Given the description of an element on the screen output the (x, y) to click on. 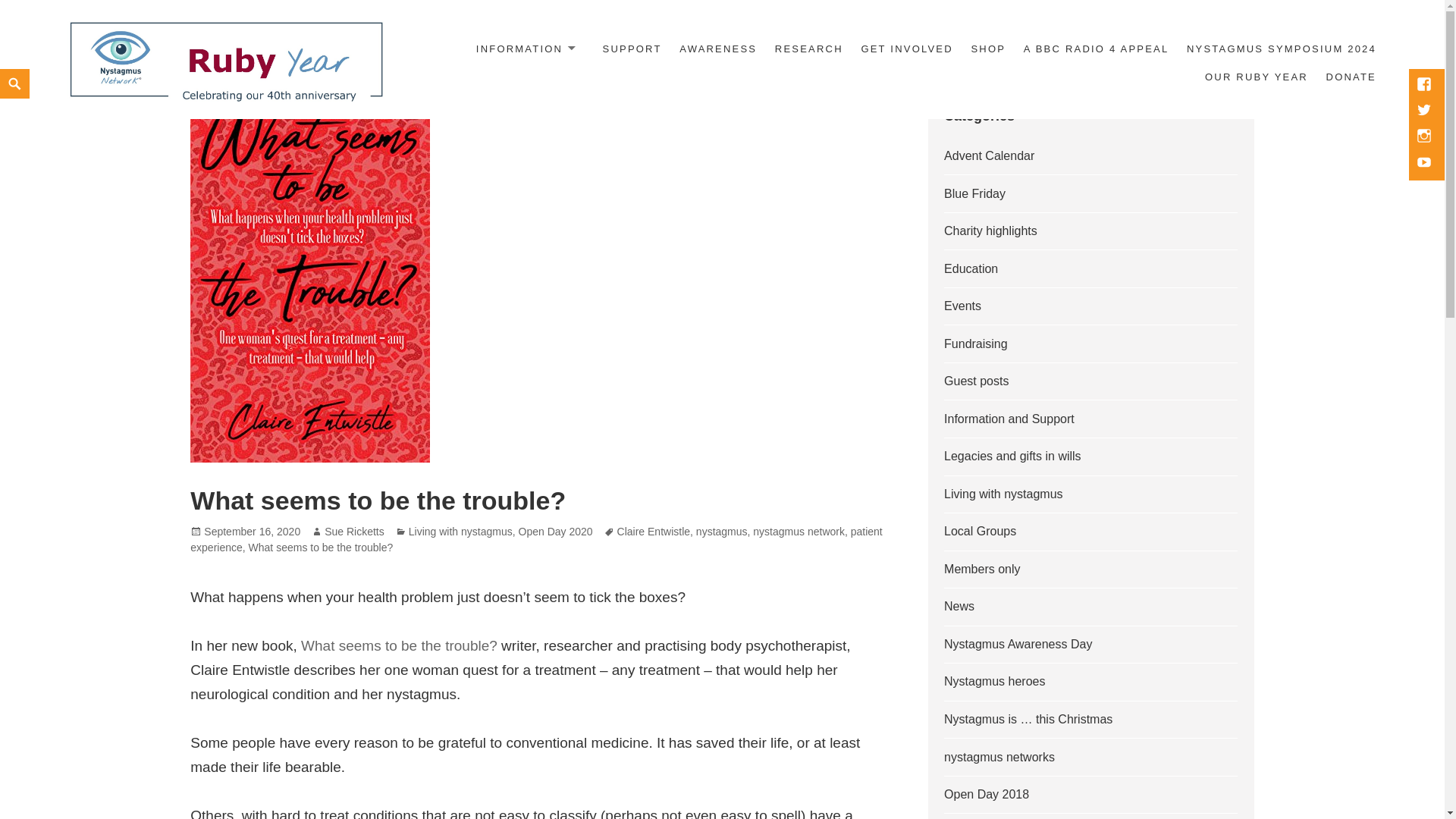
What seems to be the trouble? (399, 646)
NYSTAGMUS SYMPOSIUM 2024 (1280, 49)
SUPPORT (632, 49)
Living with nystagmus (460, 531)
Open Day 2020 (555, 531)
Claire Entwistle (653, 531)
September 16, 2020 (251, 531)
Advent Calendar (988, 155)
DONATE (1350, 77)
